Given the description of an element on the screen output the (x, y) to click on. 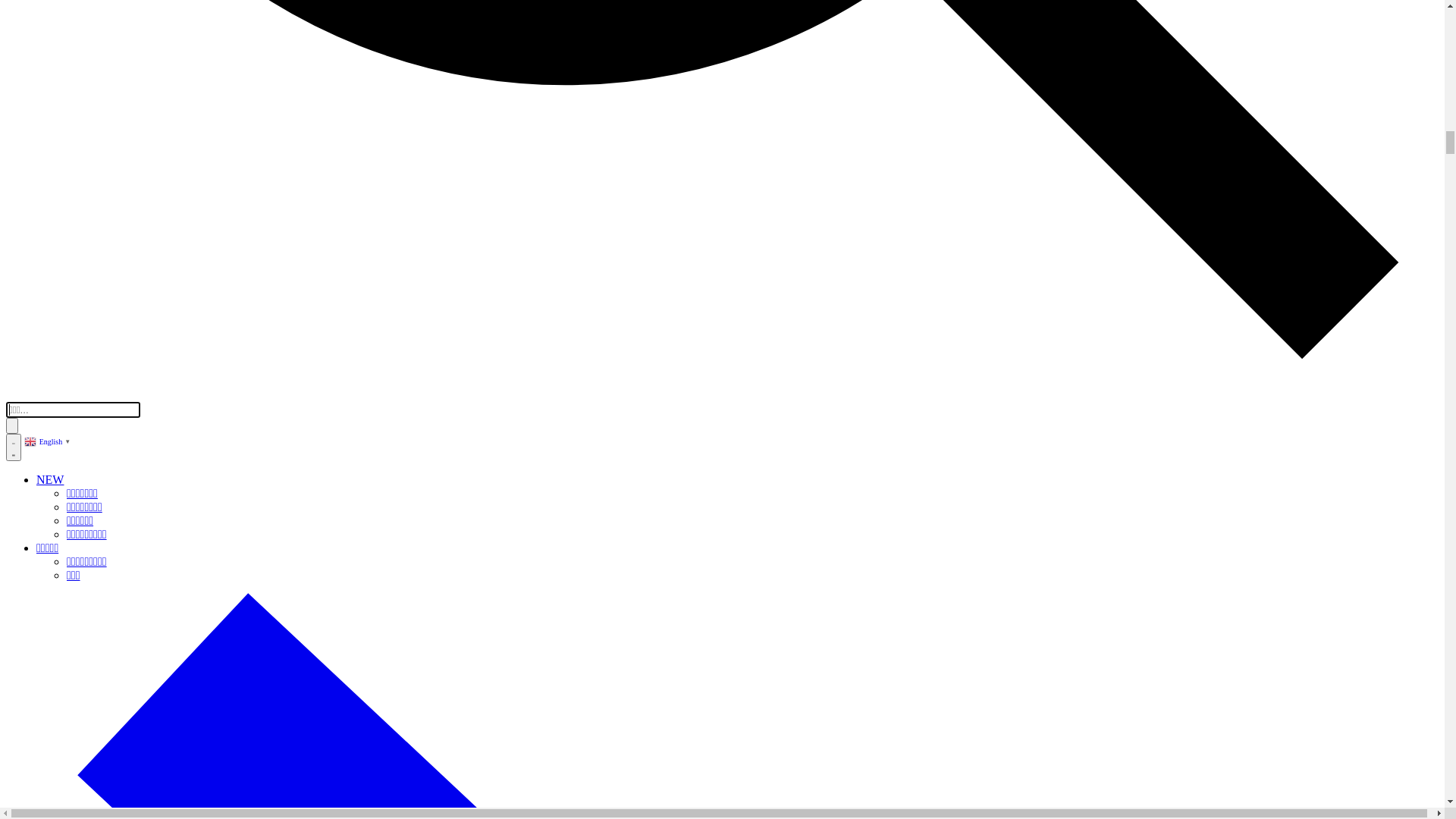
NEW Element type: text (23, 146)
